Given the description of an element on the screen output the (x, y) to click on. 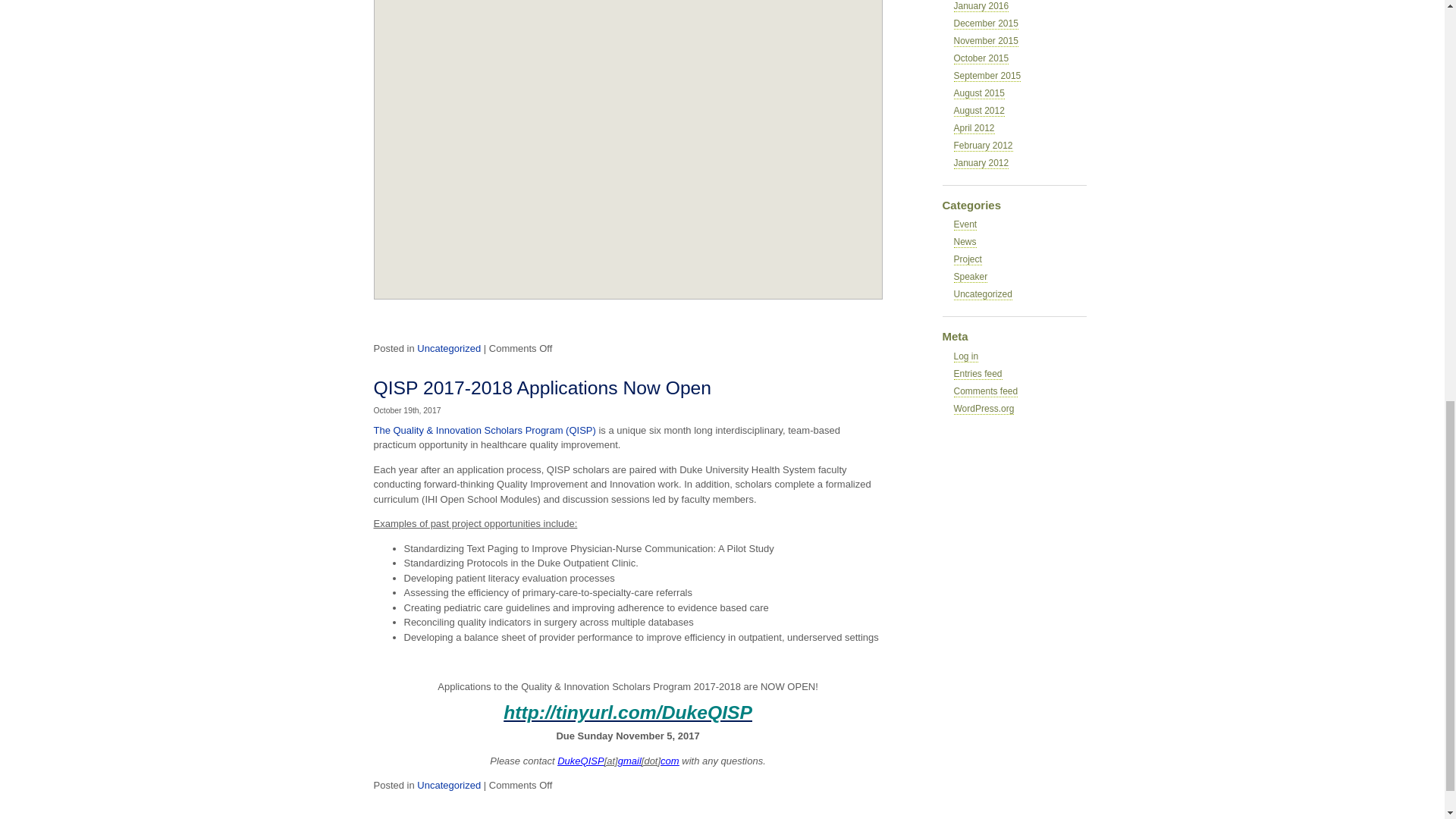
QISP 2017-2018 Applications Now Open (541, 387)
Uncategorized (448, 785)
Uncategorized (448, 348)
Permalink to QISP 2017-2018 Applications Now Open (541, 387)
